Given the description of an element on the screen output the (x, y) to click on. 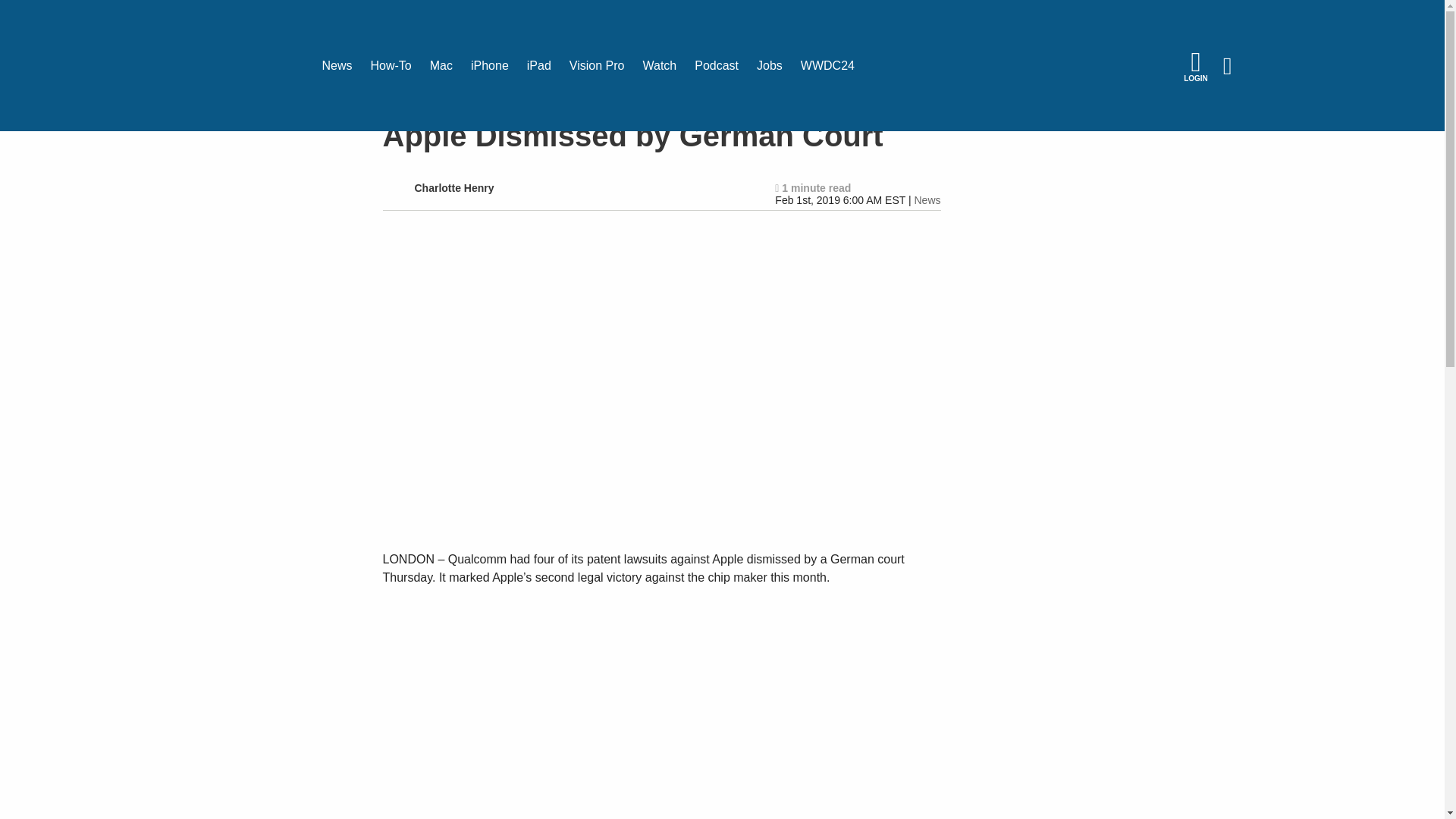
News (927, 200)
